Given the description of an element on the screen output the (x, y) to click on. 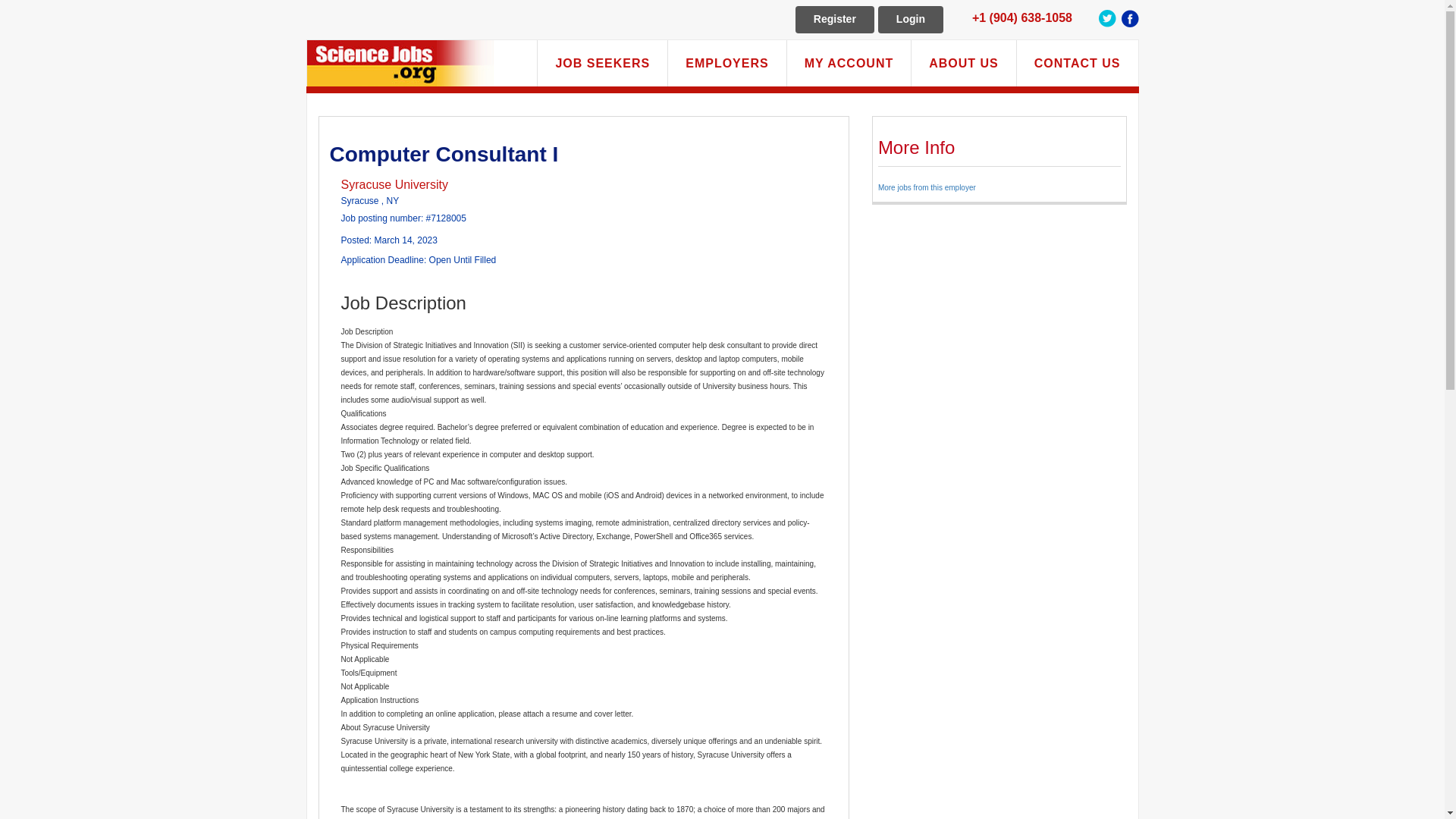
CONTACT US (1077, 63)
Login (910, 19)
ABOUT US (963, 63)
JOB SEEKERS (601, 63)
More jobs from this employer (926, 187)
MY ACCOUNT (849, 63)
Syracuse University (394, 184)
EMPLOYERS (726, 63)
Register (834, 19)
